Given the description of an element on the screen output the (x, y) to click on. 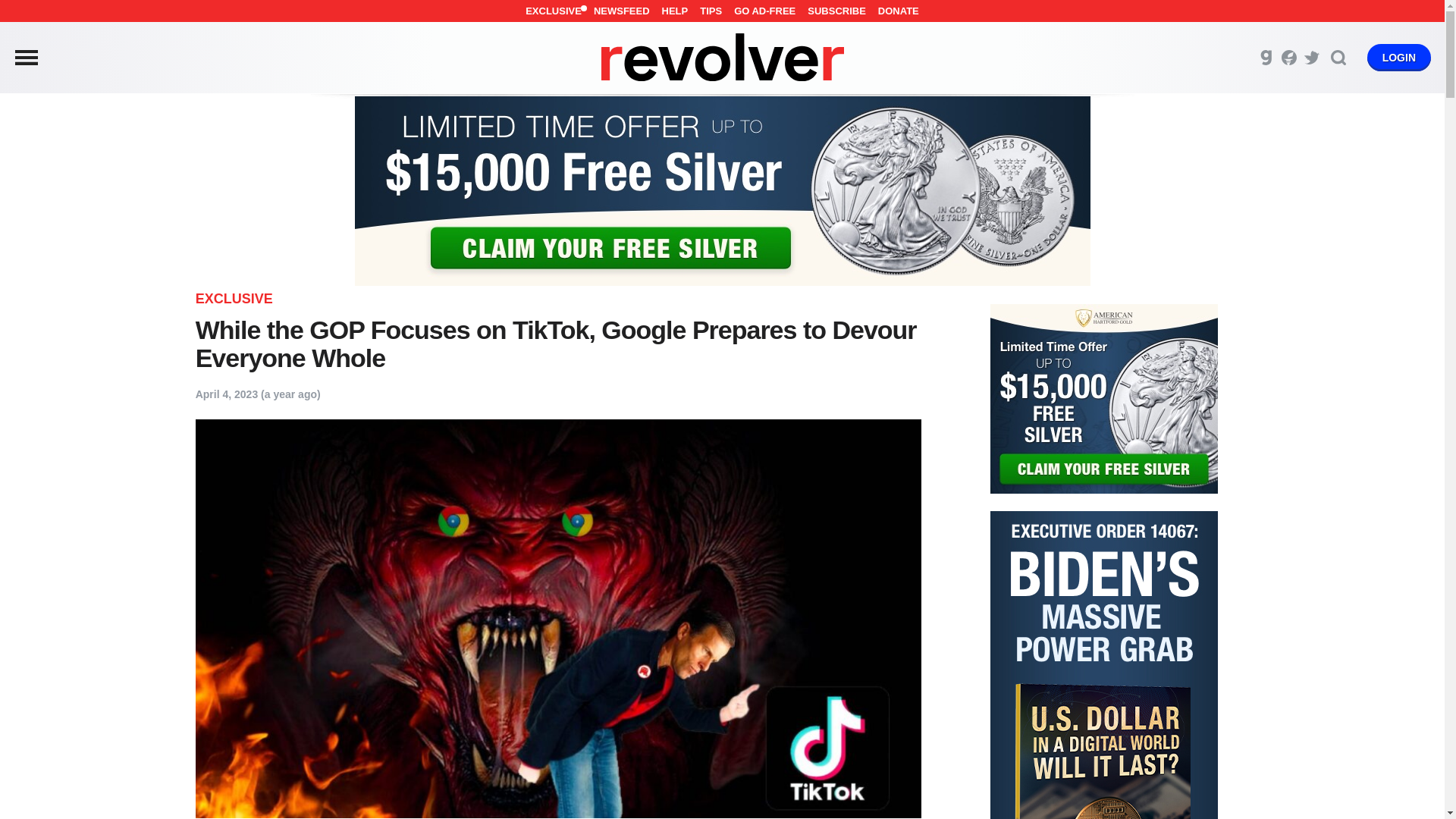
Twitter (1311, 57)
Gettr (1289, 57)
NEWSFEED (622, 11)
LOGIN (1399, 57)
DONATE (898, 11)
Search (1338, 57)
GO AD-FREE (765, 11)
TIPS (711, 11)
Gab (1266, 57)
SUBSCRIBE (837, 11)
EXCLUSIVE (553, 11)
HELP (675, 11)
